Given the description of an element on the screen output the (x, y) to click on. 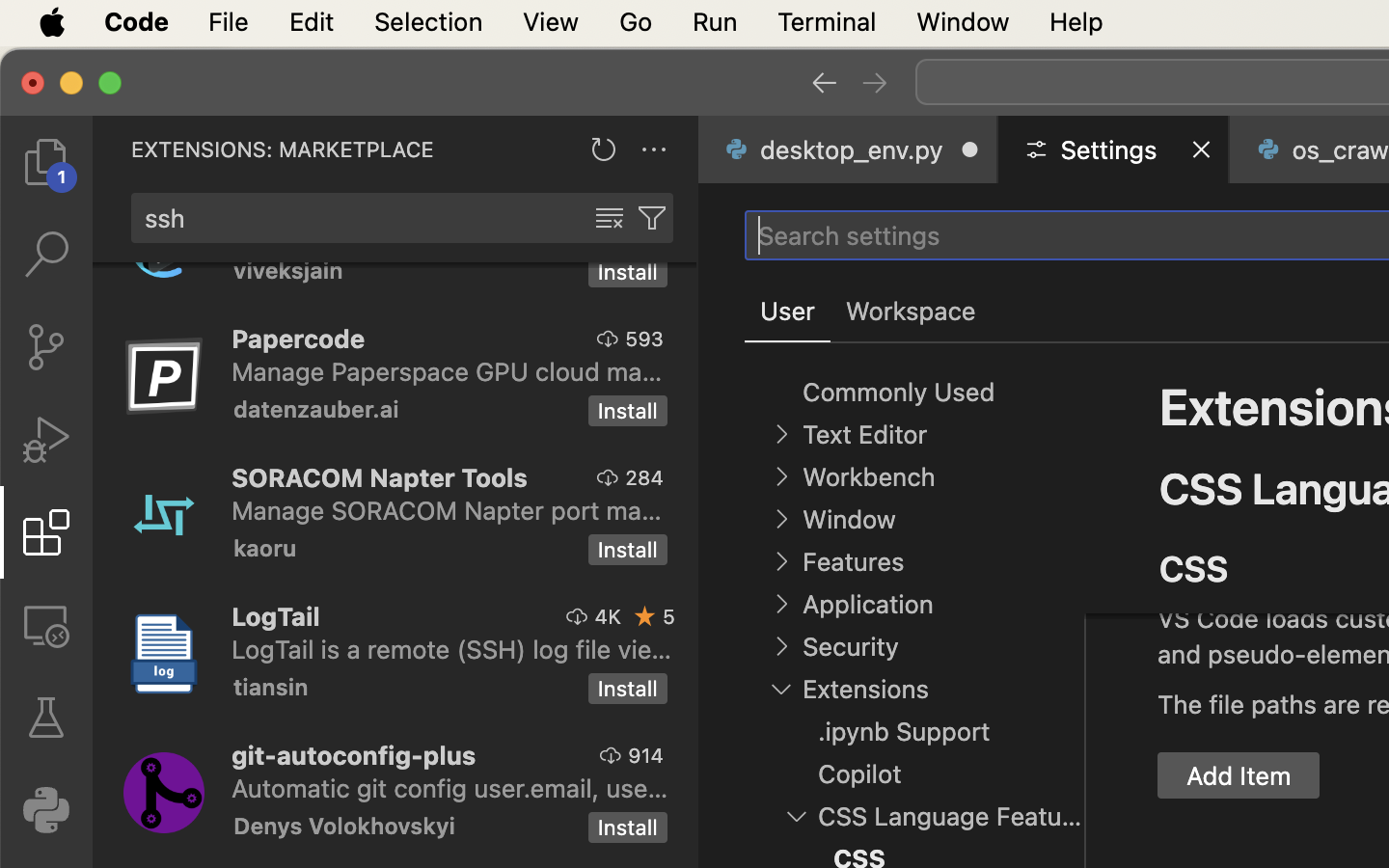
kaoru Element type: AXStaticText (265, 547)
Search settings Element type: AXStaticText (849, 235)
1 Element type: AXRadioButton (787, 311)
git-autoconfig-plus Element type: AXStaticText (353, 754)
Commonly Used Element type: AXStaticText (898, 392)
